Given the description of an element on the screen output the (x, y) to click on. 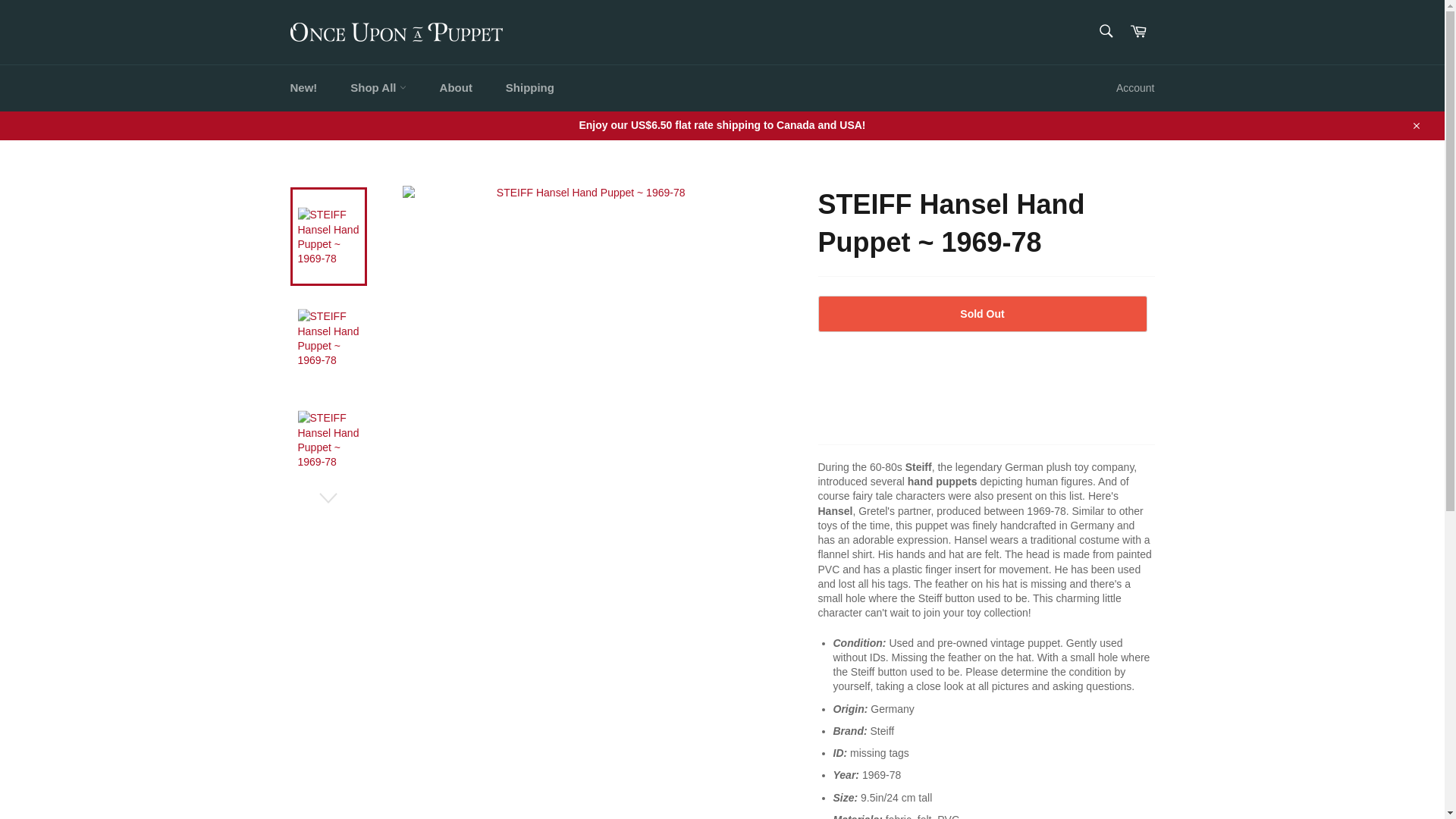
New! (303, 88)
Shop All (377, 88)
Cart (1138, 32)
Search (1104, 30)
